Given the description of an element on the screen output the (x, y) to click on. 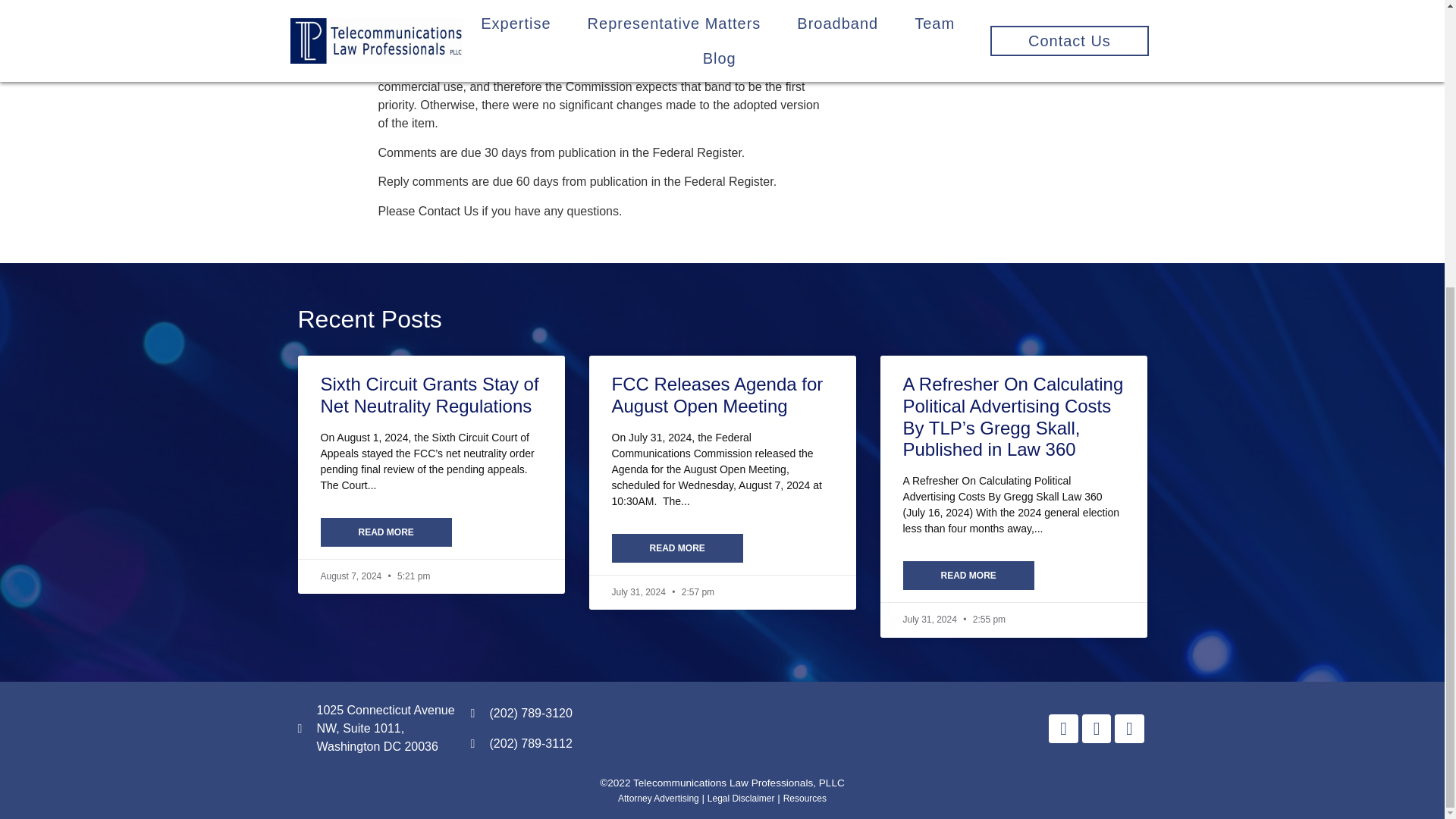
READ MORE (676, 547)
READ MORE (967, 575)
1025 Connecticut Avenue NW, Suite 1011, Washington DC 20036 (375, 728)
Sixth Circuit Grants Stay of Net Neutrality Regulations (429, 394)
draft (389, 21)
Contact Us (956, 42)
FCC Releases Agenda for August Open Meeting (716, 394)
READ MORE (385, 532)
